Given the description of an element on the screen output the (x, y) to click on. 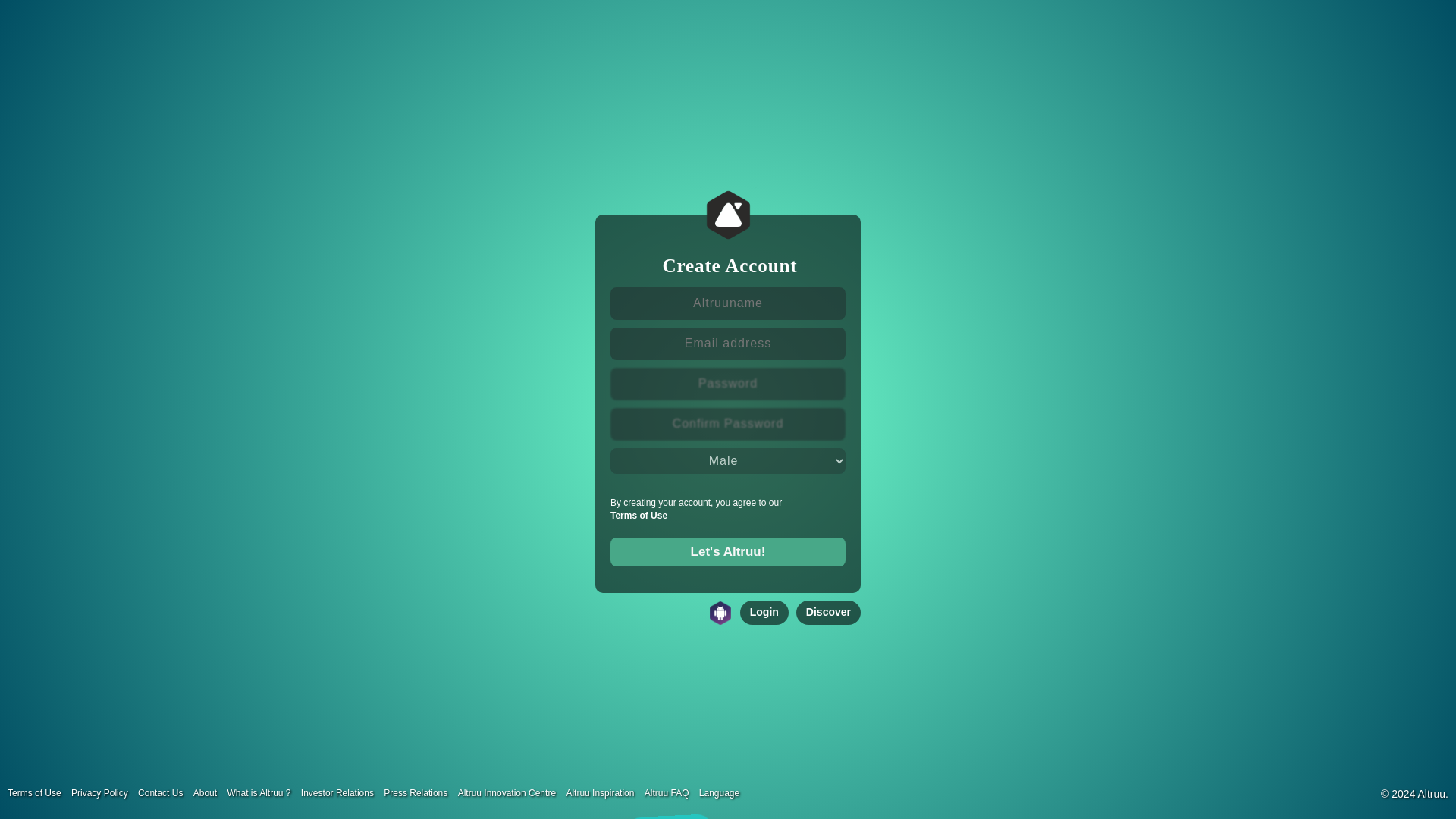
Contact Us (164, 792)
About (208, 792)
Altruu Innovation Centre (510, 792)
Investor Relations (341, 792)
Login (764, 612)
Terms of Use (37, 792)
Language (722, 792)
Press Relations (419, 792)
Terms of Use (638, 515)
What is Altruu ? (262, 792)
Altruu FAQ (671, 792)
Discover (828, 612)
Altruu Inspiration (604, 792)
Privacy Policy (103, 792)
Let's Altruu! (727, 551)
